Given the description of an element on the screen output the (x, y) to click on. 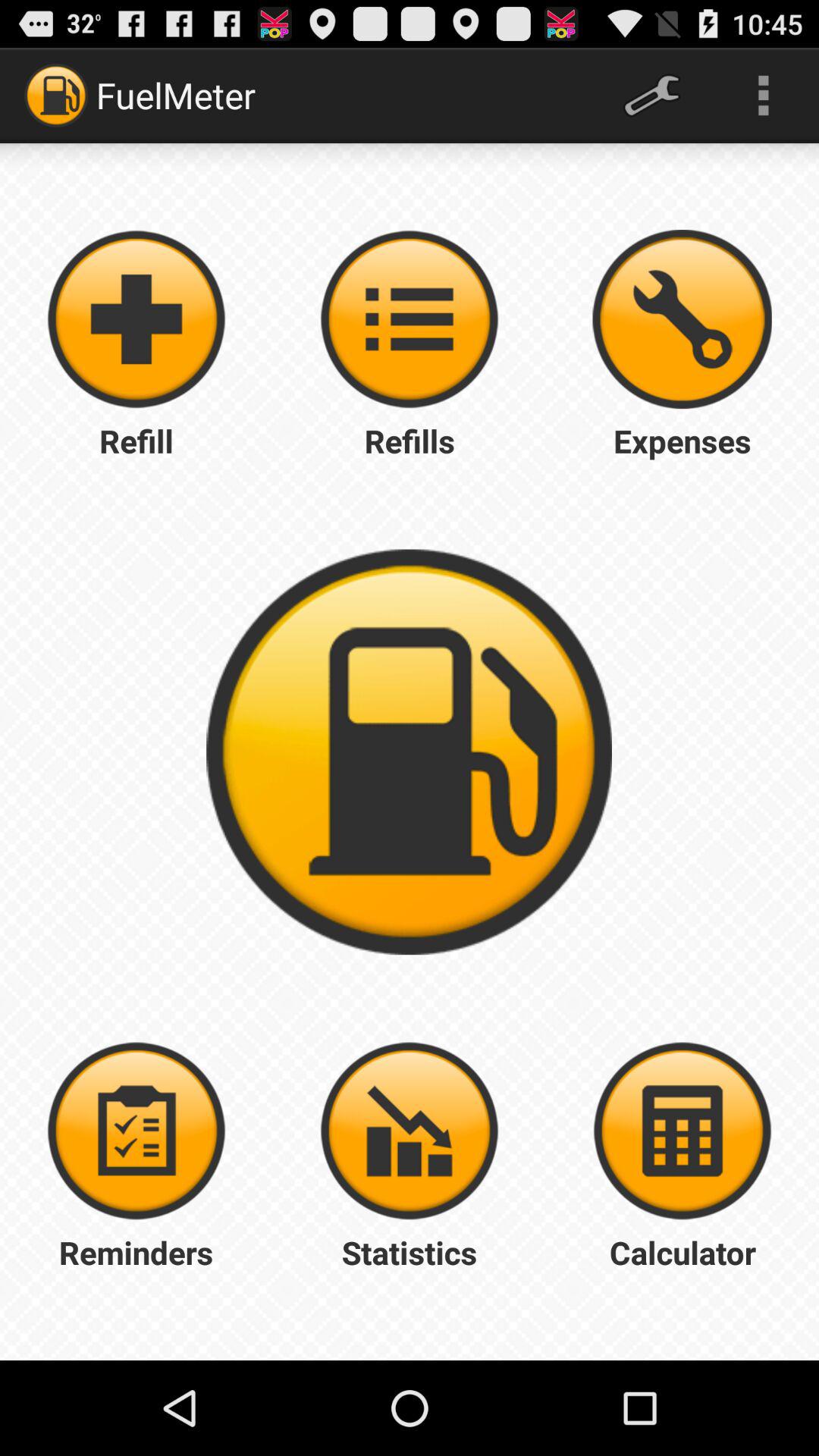
tap the app next to the fuelmeter app (651, 95)
